Given the description of an element on the screen output the (x, y) to click on. 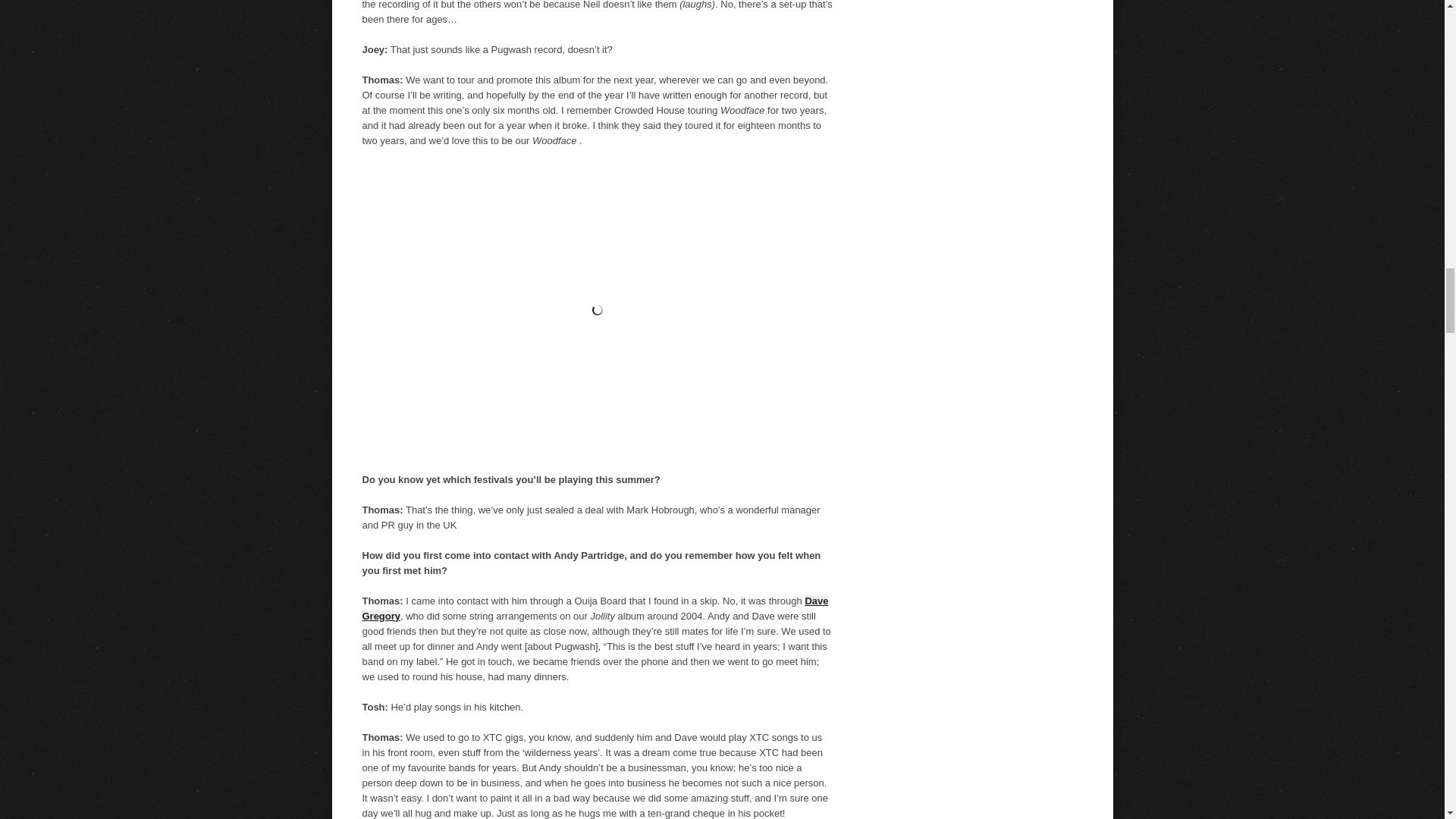
Dave Gregory (595, 607)
